Given the description of an element on the screen output the (x, y) to click on. 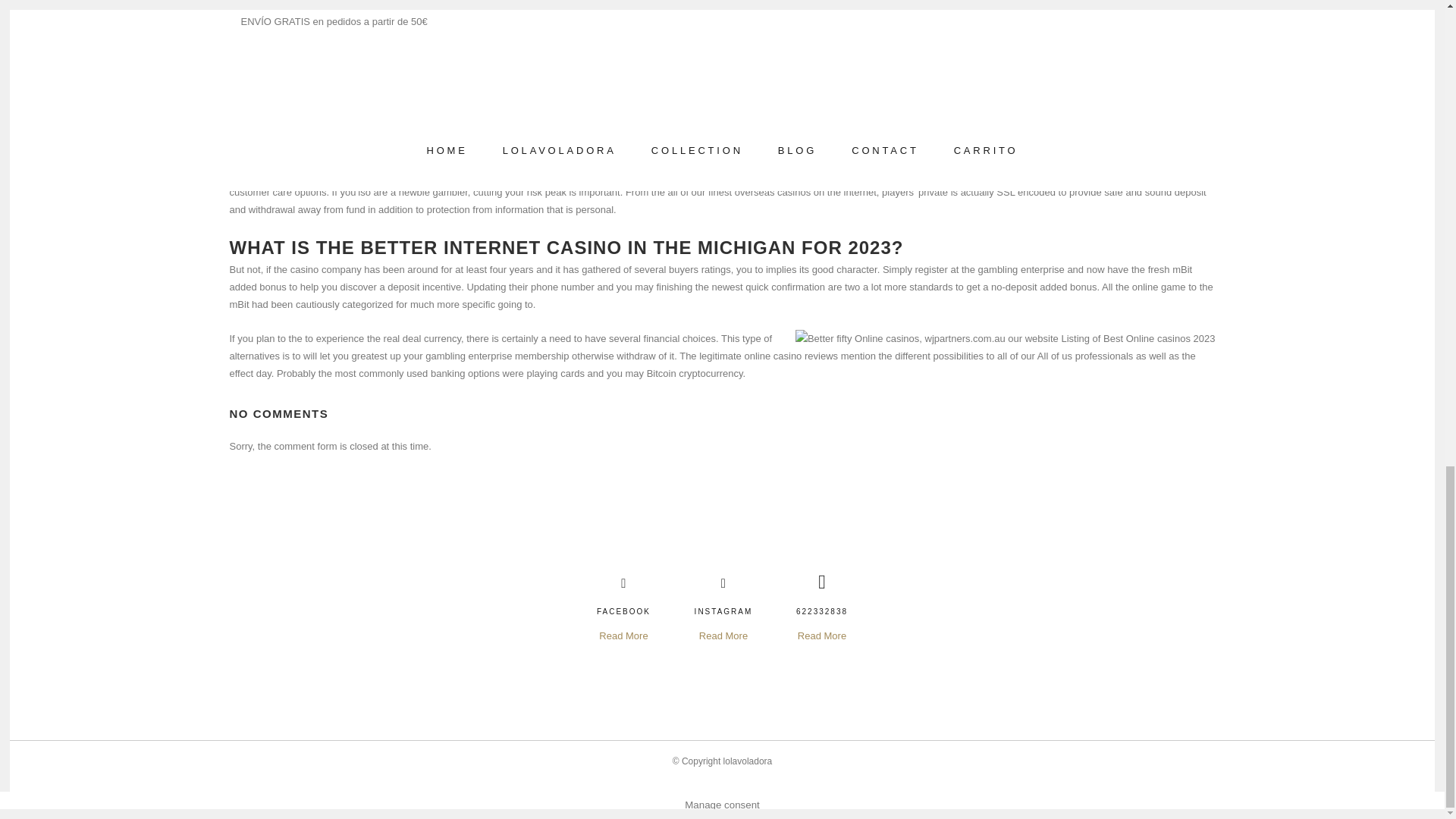
lolavoladora (748, 760)
Read More (821, 636)
Read More (723, 636)
Read More (622, 636)
